Given the description of an element on the screen output the (x, y) to click on. 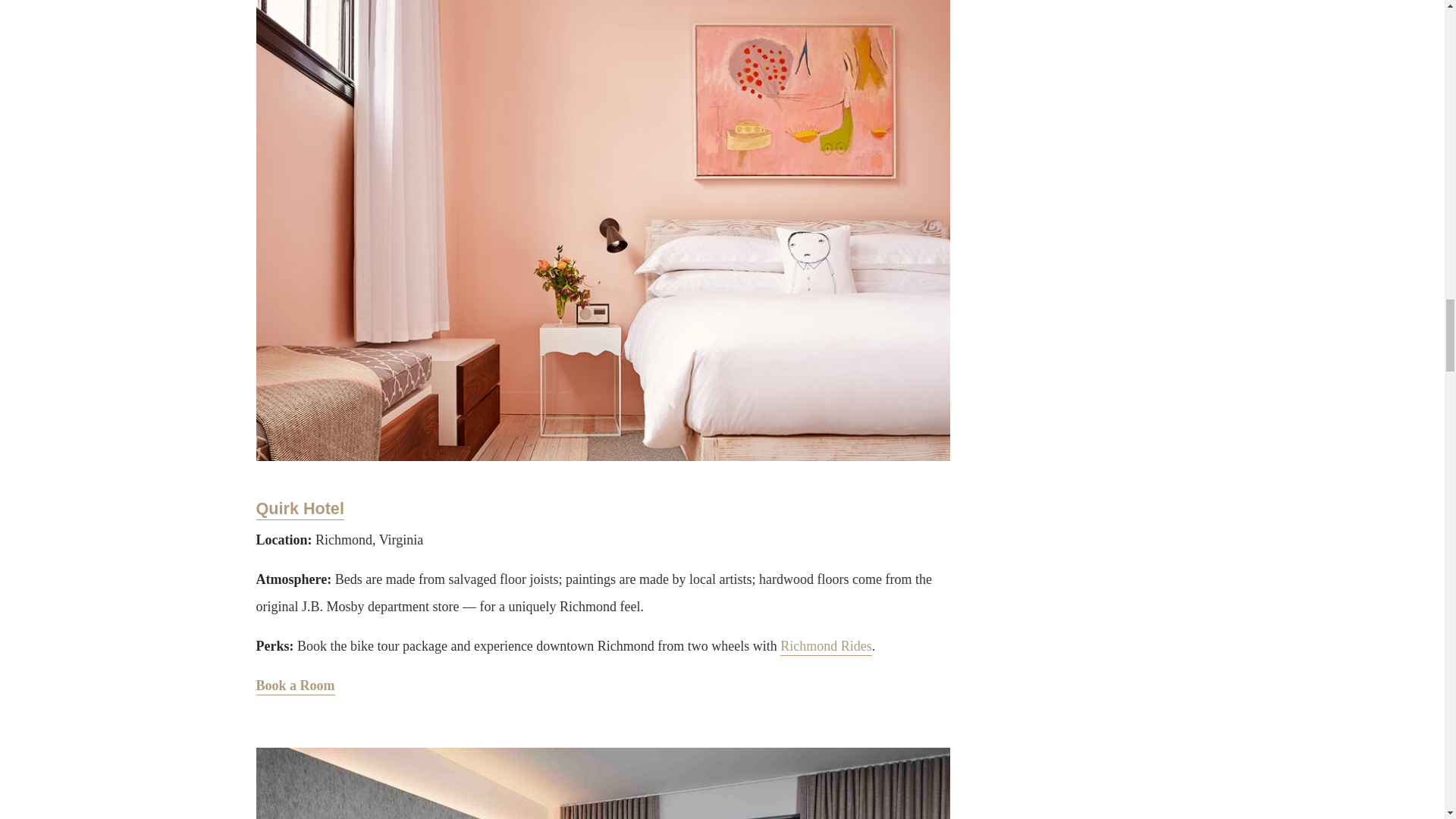
Book a Room (295, 686)
Richmond Rides (826, 647)
Richmond Rides (826, 647)
Book Quirk Hotel (295, 686)
Quirk Hotel (299, 509)
Quirk Hotel (299, 509)
